Given the description of an element on the screen output the (x, y) to click on. 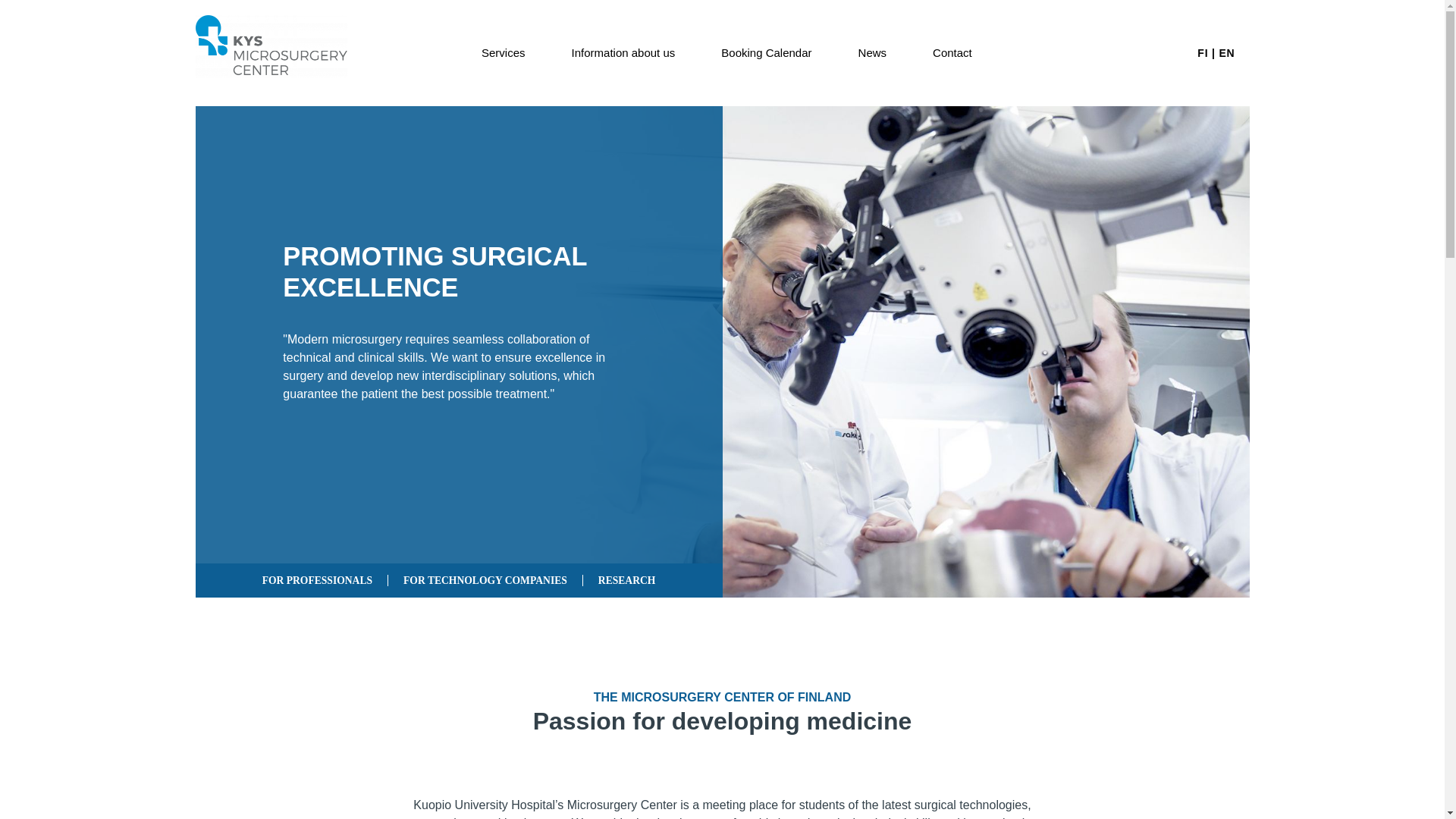
FOR PROFESSIONALS (317, 580)
EN (1226, 52)
FOR TECHNOLOGY COMPANIES (485, 580)
Information about us (623, 53)
RESEARCH (627, 580)
Booking Calendar (766, 53)
